Given the description of an element on the screen output the (x, y) to click on. 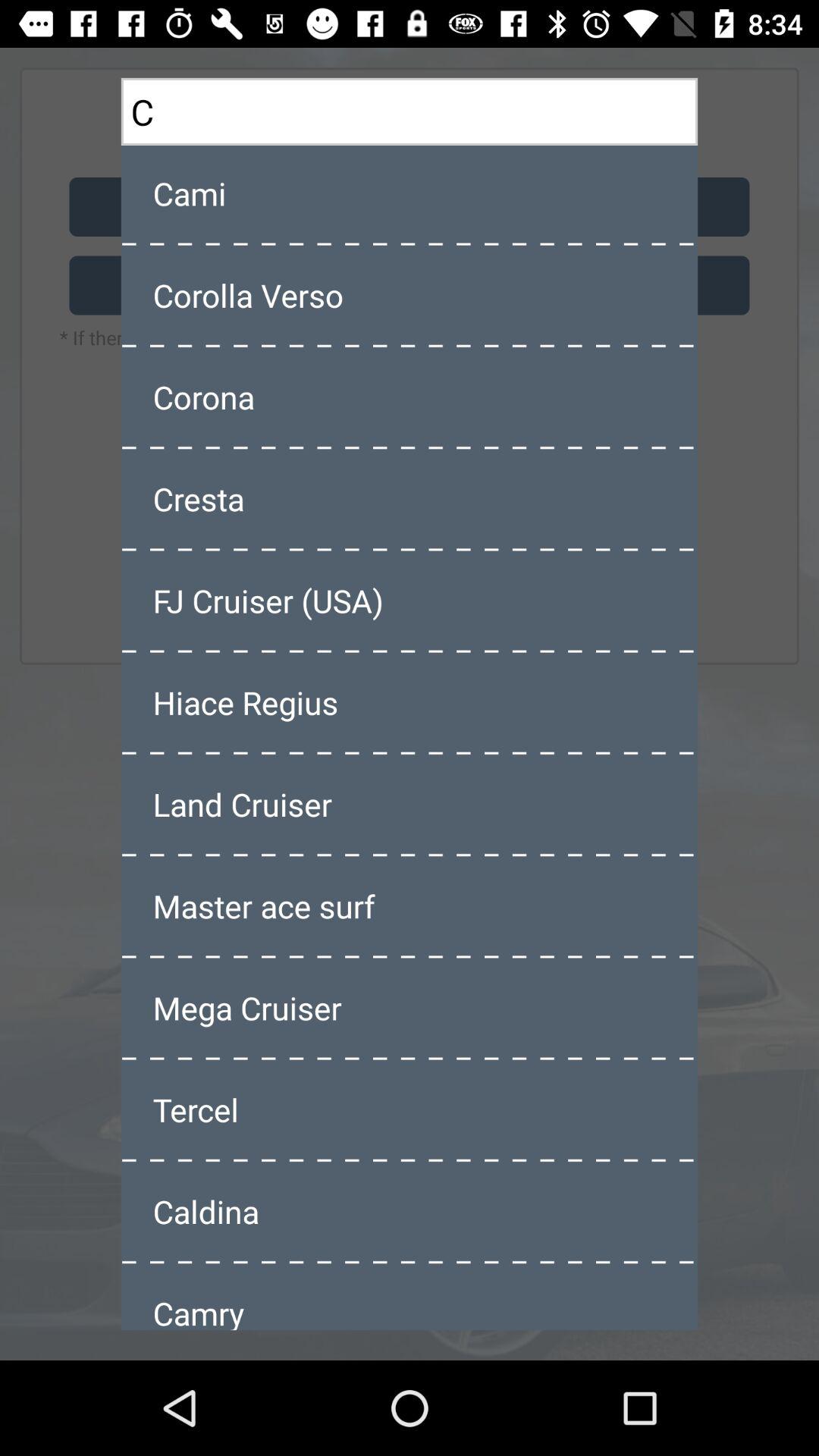
launch cresta (409, 498)
